Given the description of an element on the screen output the (x, y) to click on. 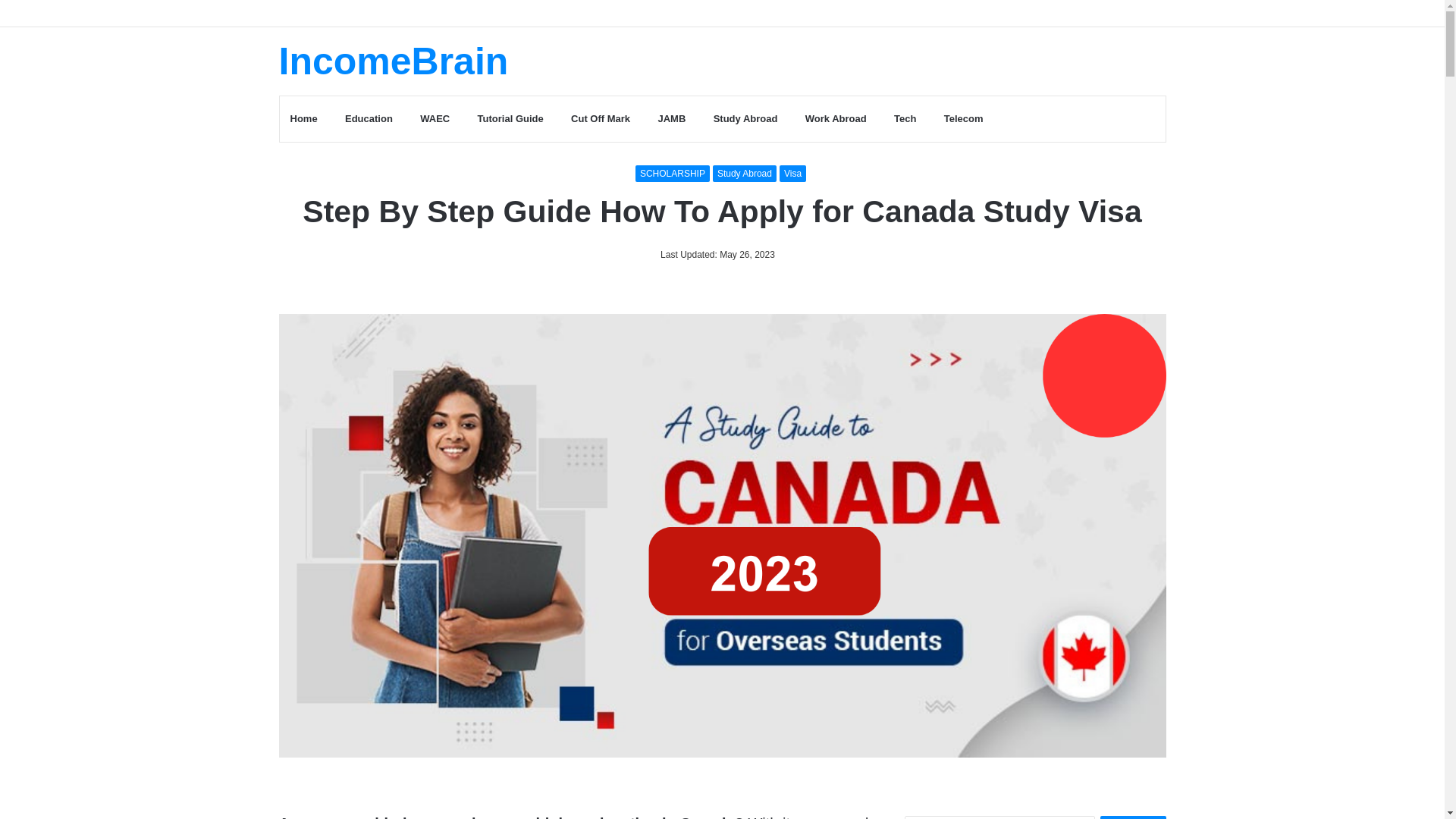
Work Abroad (831, 118)
Home (303, 118)
Cut Off Mark (597, 118)
WAEC (431, 118)
IncomeBrain (393, 61)
Education (366, 118)
Search (1133, 817)
Study Abroad (741, 118)
Telecom (959, 118)
Tutorial Guide (507, 118)
